Given the description of an element on the screen output the (x, y) to click on. 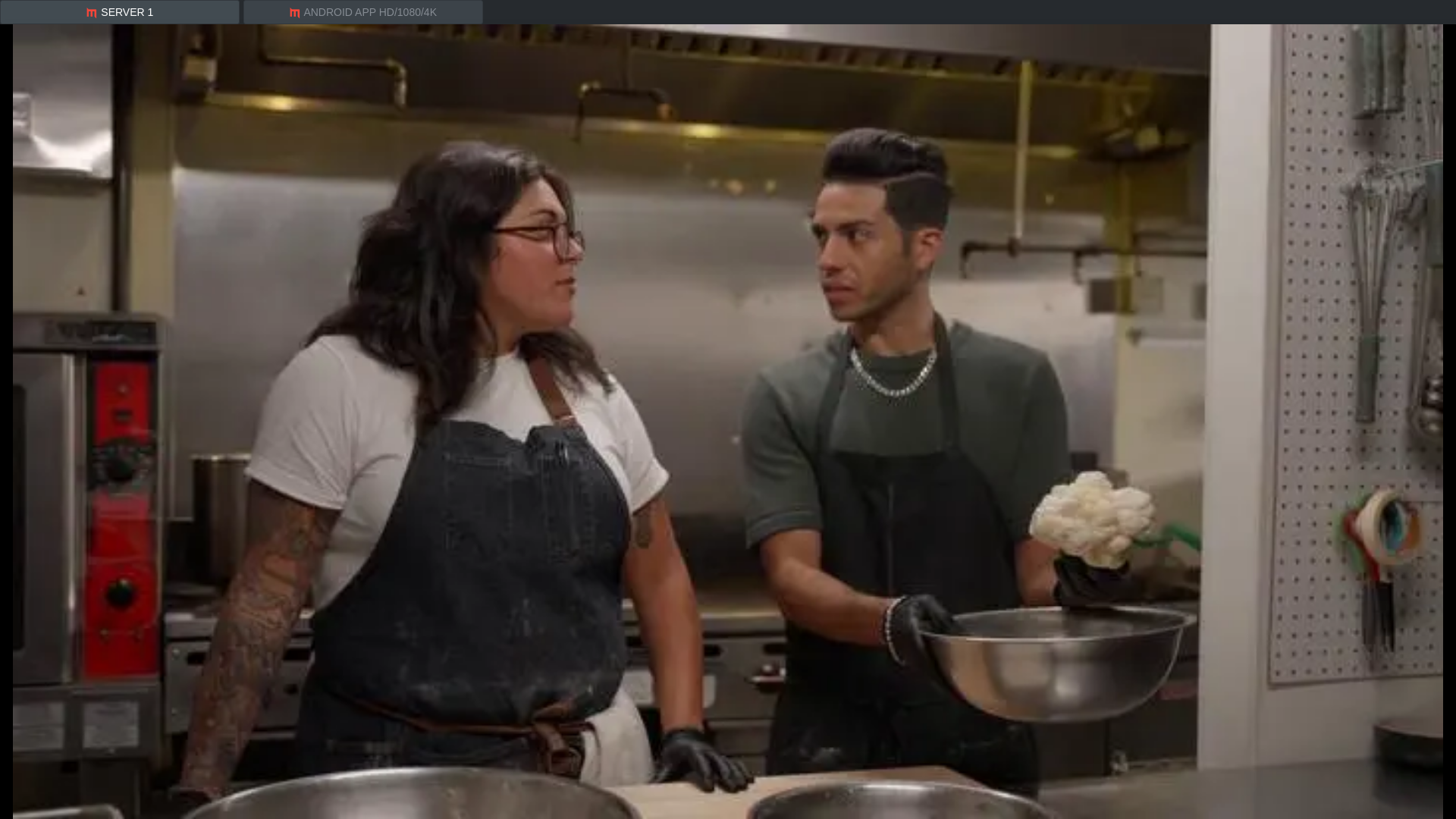
ANDROID APP HD/1080/4K Element type: text (361, 12)
ANDROID APP HD/1080/4K Element type: text (363, 12)
SERVER 1 Element type: text (119, 12)
